Given the description of an element on the screen output the (x, y) to click on. 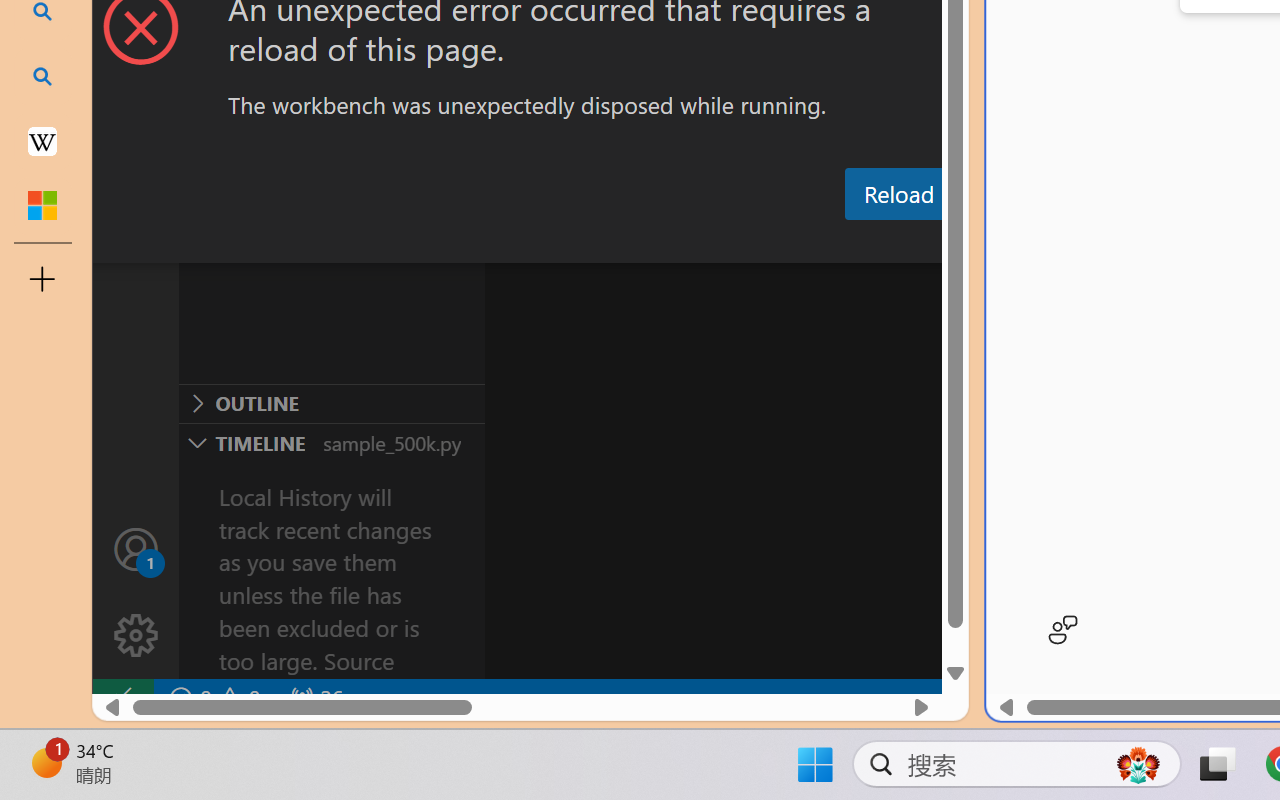
Output (Ctrl+Shift+U) (696, 243)
Outline Section (331, 403)
Terminal (Ctrl+`) (1021, 243)
Problems (Ctrl+Shift+M) (567, 243)
Manage (135, 591)
Manage (135, 635)
Timeline Section (331, 442)
No Problems (212, 698)
